Given the description of an element on the screen output the (x, y) to click on. 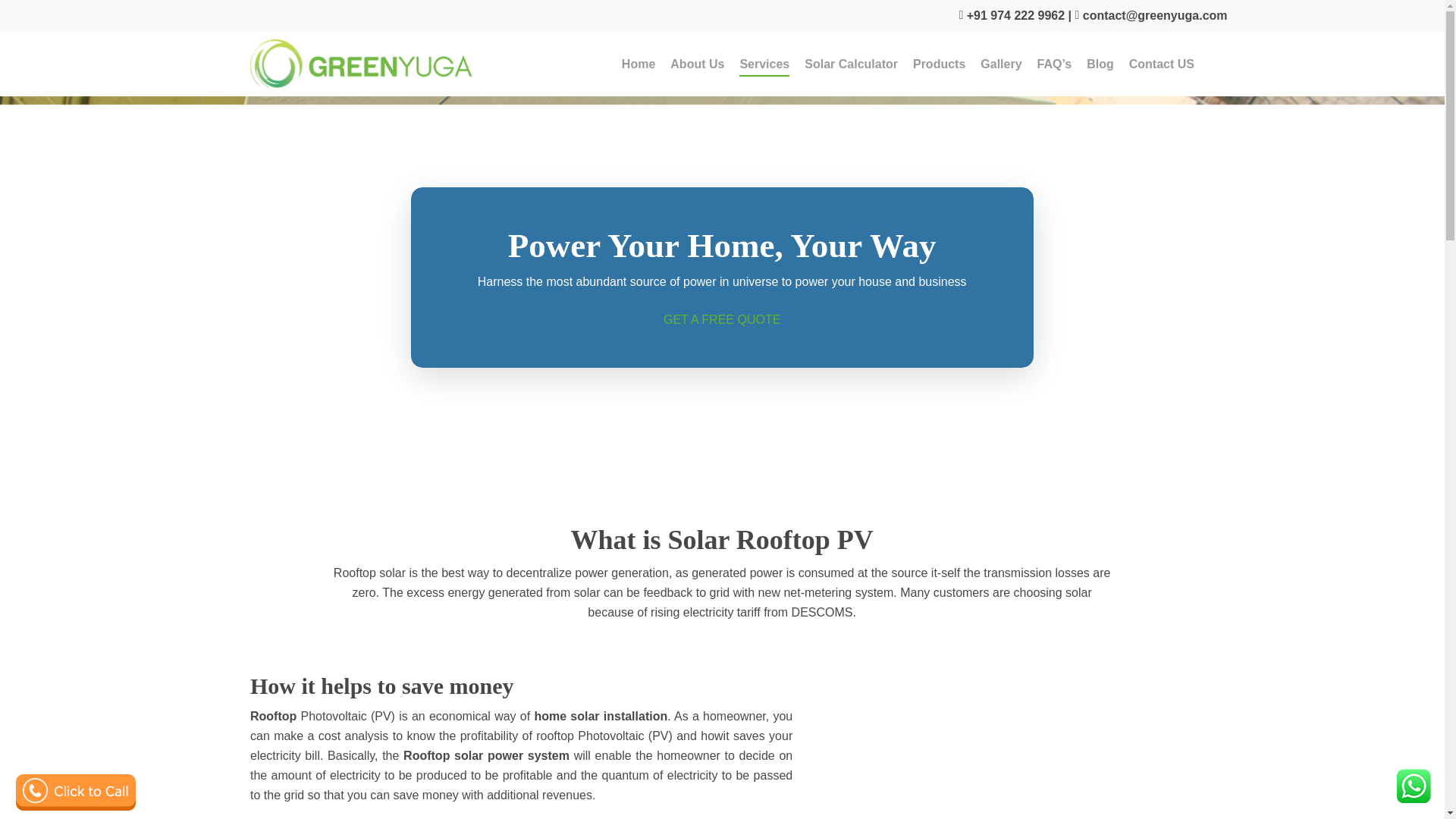
GET A FREE QUOTE (721, 318)
Services (764, 64)
Gallery (1000, 64)
About Us (696, 64)
Home (638, 64)
Contact US (1161, 64)
Blog (1099, 64)
Solar Calculator (851, 64)
Products (938, 64)
